Given the description of an element on the screen output the (x, y) to click on. 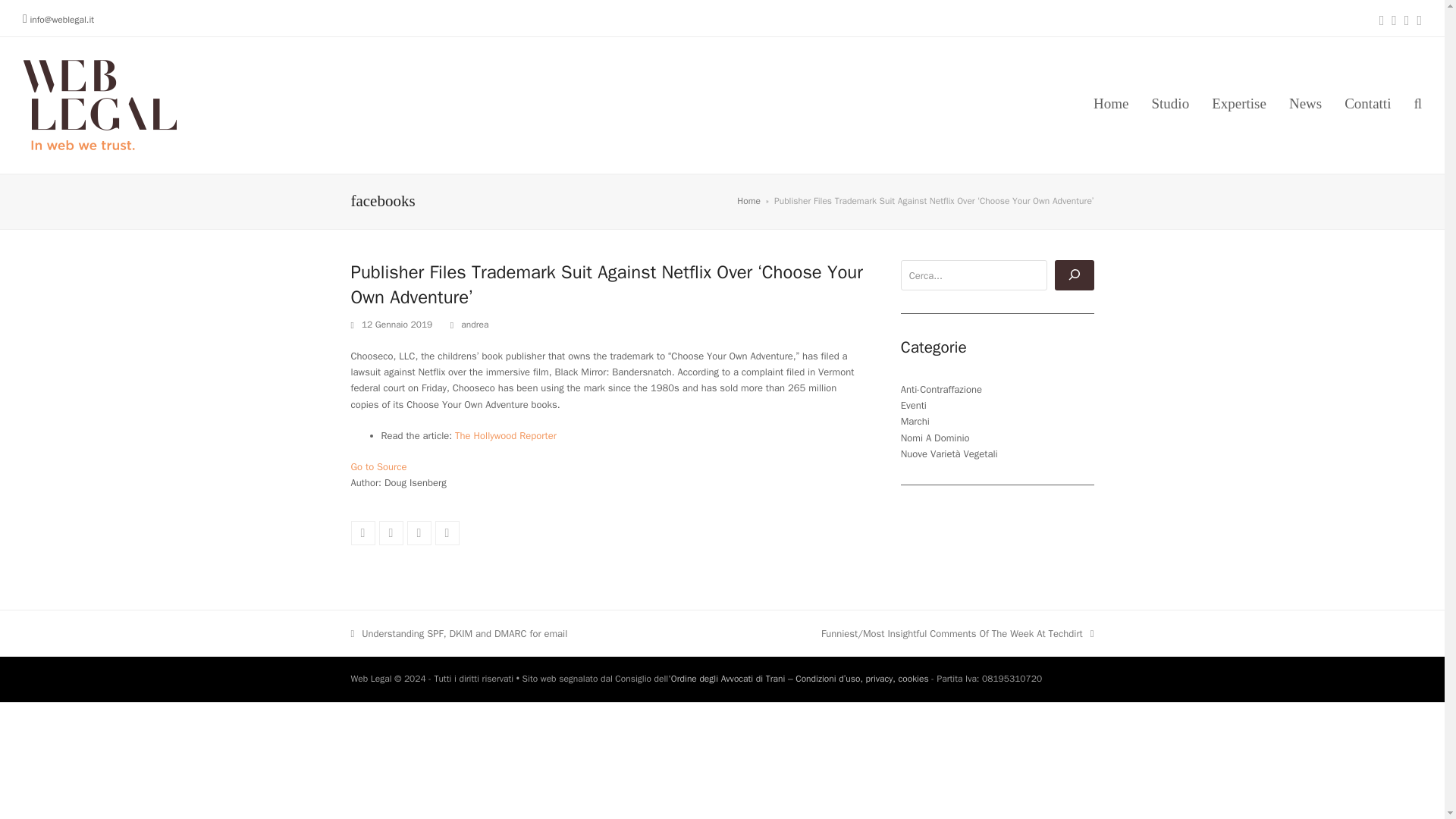
Home (748, 200)
Share on Facebook (362, 532)
Marchi (915, 420)
News (1305, 105)
Contatti (1367, 105)
Go to Source (378, 466)
Ordine degli Avvocati di Trani (728, 678)
Share on Twitter (458, 633)
The Hollywood Reporter (390, 532)
Articoli scritti da andrea (505, 435)
Expertise (474, 324)
Anti-Contraffazione (1238, 105)
andrea (941, 389)
Nomi A Dominio (474, 324)
